Given the description of an element on the screen output the (x, y) to click on. 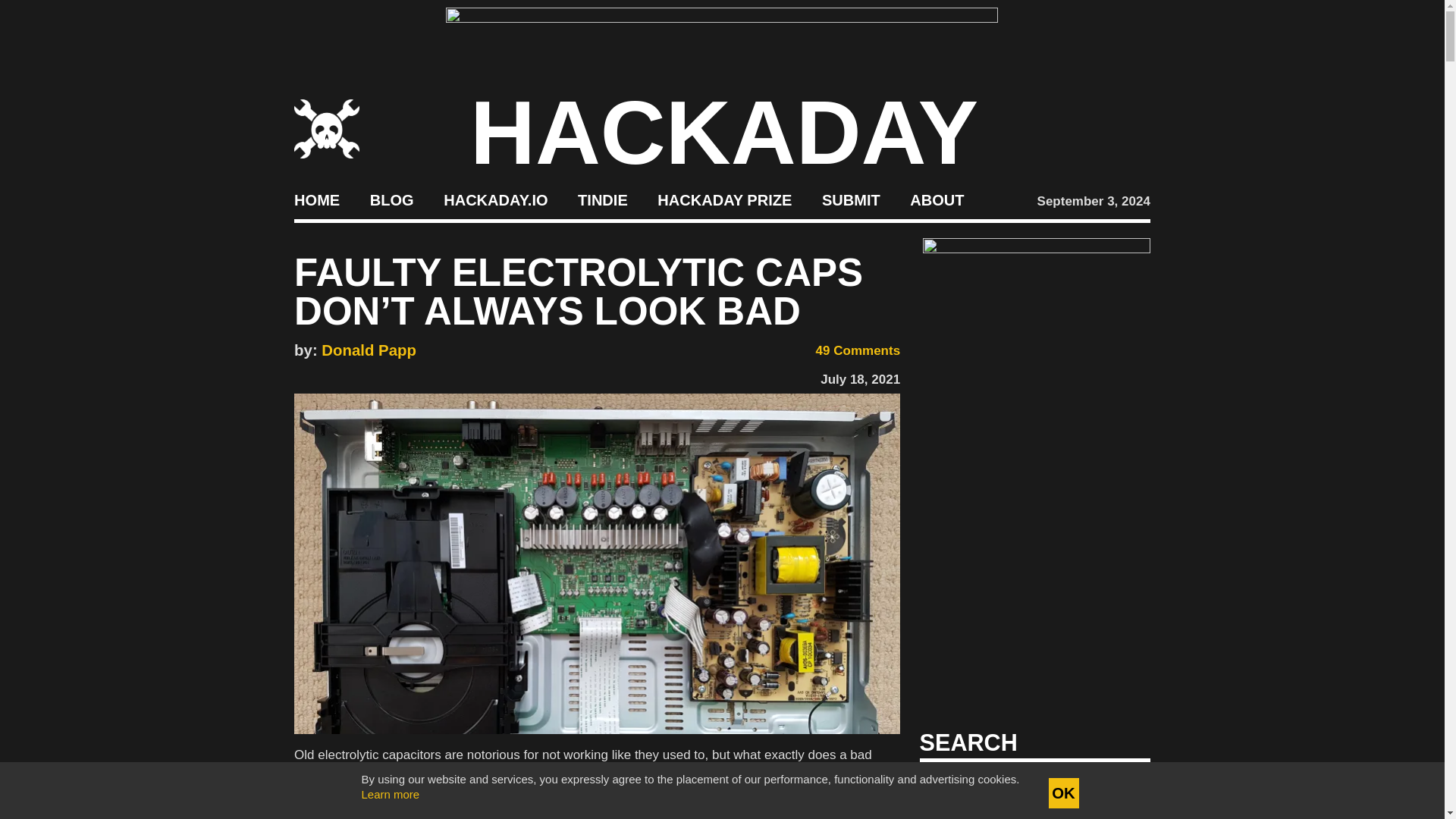
Copy title or shortlink (391, 376)
Posts by Donald Papp (368, 350)
Search (1115, 787)
Share on Facebook (301, 375)
ABOUT (936, 200)
HACKADAY PRIZE (725, 200)
Share on Reddit (369, 375)
TINDIE (602, 200)
HACKADAY.IO (495, 200)
July 18, 2021 - 1:00 pm (860, 379)
